Given the description of an element on the screen output the (x, y) to click on. 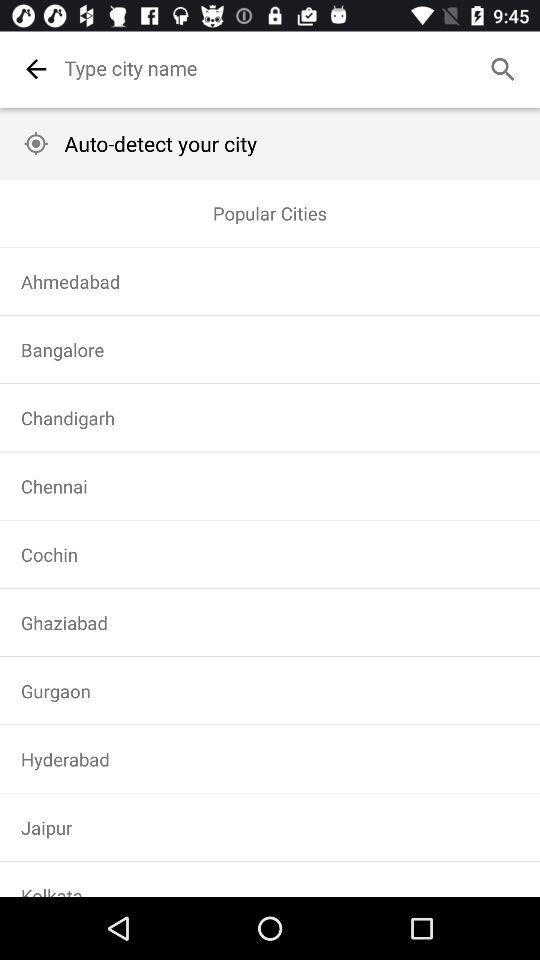
toggle automatic gps localization (36, 143)
